Given the description of an element on the screen output the (x, y) to click on. 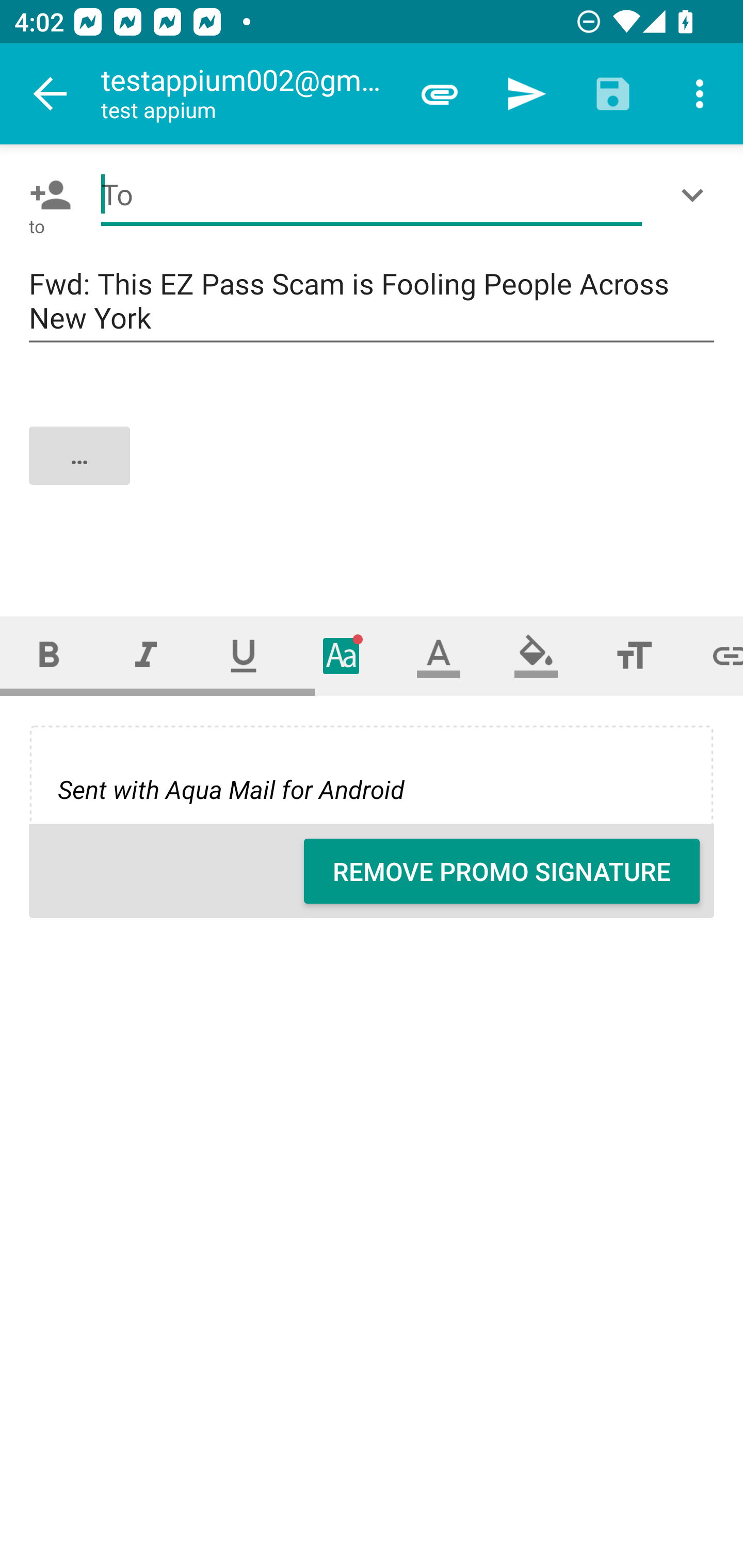
Navigate up (50, 93)
testappium002@gmail.com test appium (248, 93)
Attach (439, 93)
Send (525, 93)
Save (612, 93)
More options (699, 93)
Pick contact: To (46, 195)
Show/Add CC/BCC (696, 195)
To (371, 195)

…
 (372, 472)
Bold (48, 656)
Italic (145, 656)
Underline (243, 656)
Typeface (font) (341, 656)
Text color (438, 656)
Fill color (536, 656)
Font size (633, 656)
REMOVE PROMO SIGNATURE (501, 870)
